Given the description of an element on the screen output the (x, y) to click on. 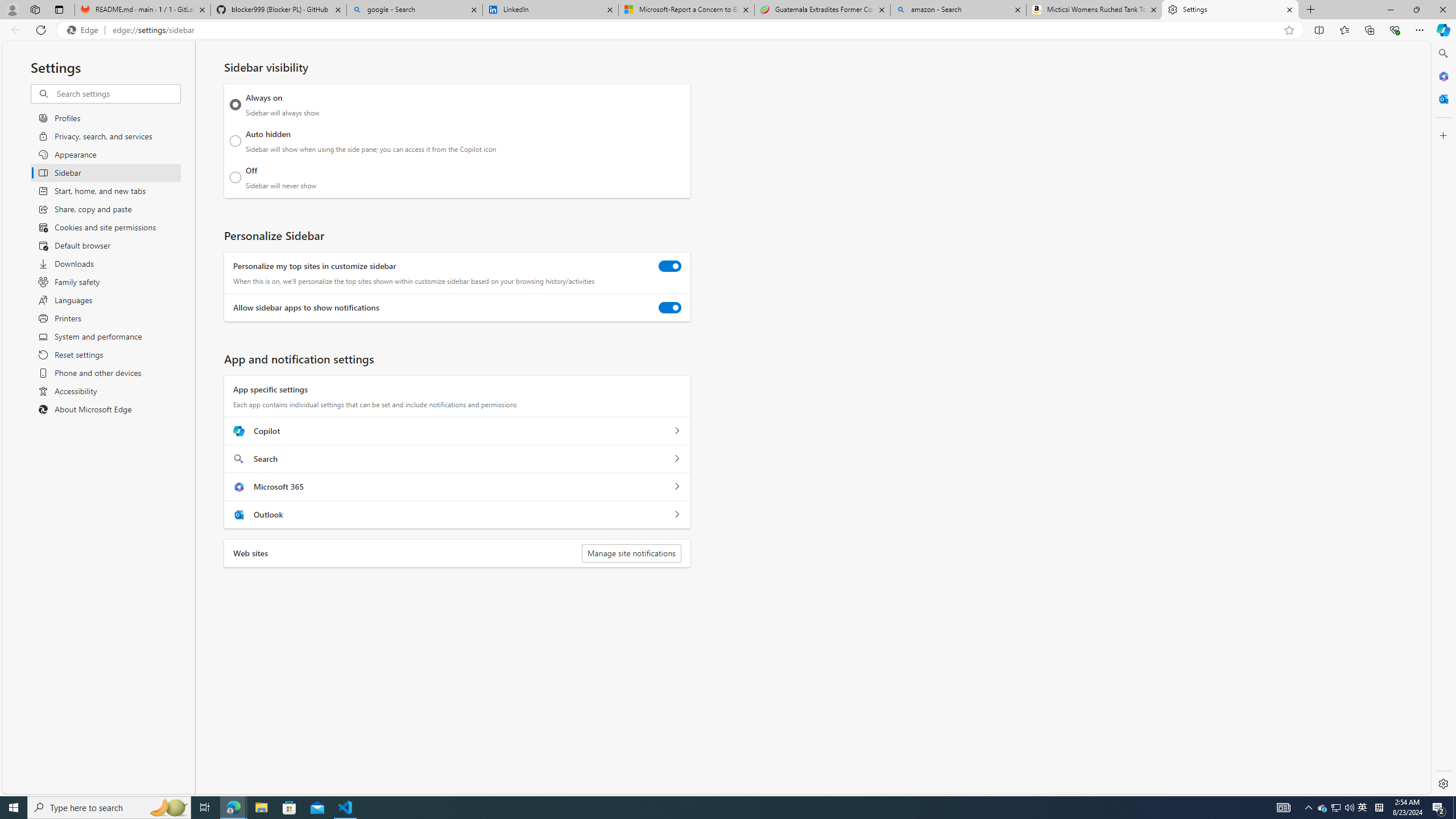
amazon - Search (957, 9)
Manage site notifications (630, 553)
Copilot (676, 430)
LinkedIn (550, 9)
Search settings (117, 93)
